Given the description of an element on the screen output the (x, y) to click on. 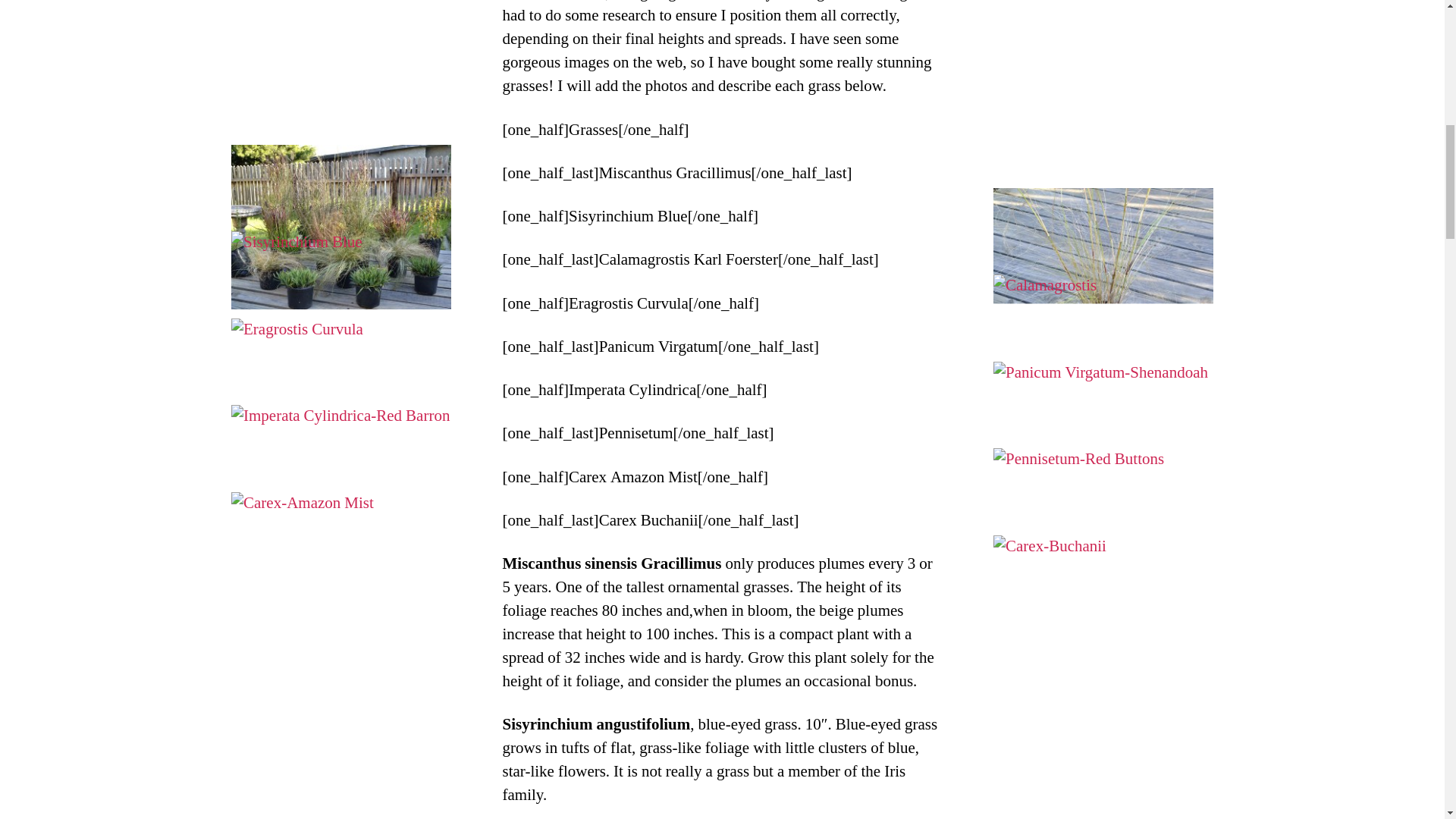
Pennisetum-Red Buttons (1102, 530)
Calamagrostis-Karl Foerster (1102, 356)
Carex-Buchanii (1102, 618)
Eragrostis Curvula (341, 401)
Imperata Cylindrica-Red Barron (341, 487)
Miscanthus Sinensis Gracillimus (1102, 270)
Carex-Amazon Mist (341, 574)
Panicum Virgatum-Shenandoah (1102, 444)
Sisyrinchium Blue (341, 313)
Grass Feature All (341, 227)
